Given the description of an element on the screen output the (x, y) to click on. 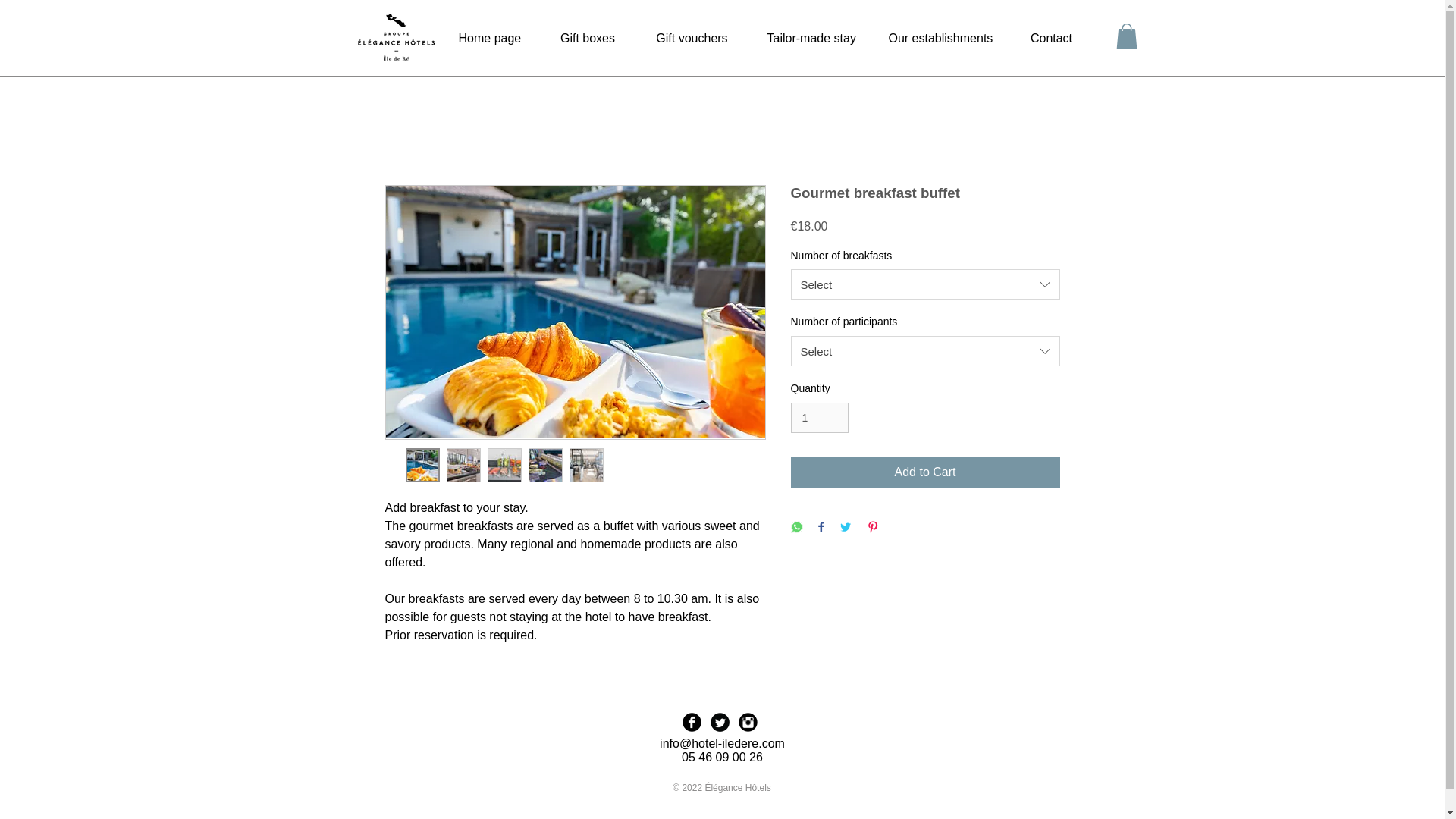
Select (924, 284)
Add to Cart (924, 472)
Select (924, 350)
Gift vouchers (691, 38)
05 46 09 00 26 (721, 757)
Tailor-made stay (808, 38)
Home page (489, 38)
Contact (1051, 38)
Gift boxes (588, 38)
Our establishments (939, 38)
1 (818, 418)
